Given the description of an element on the screen output the (x, y) to click on. 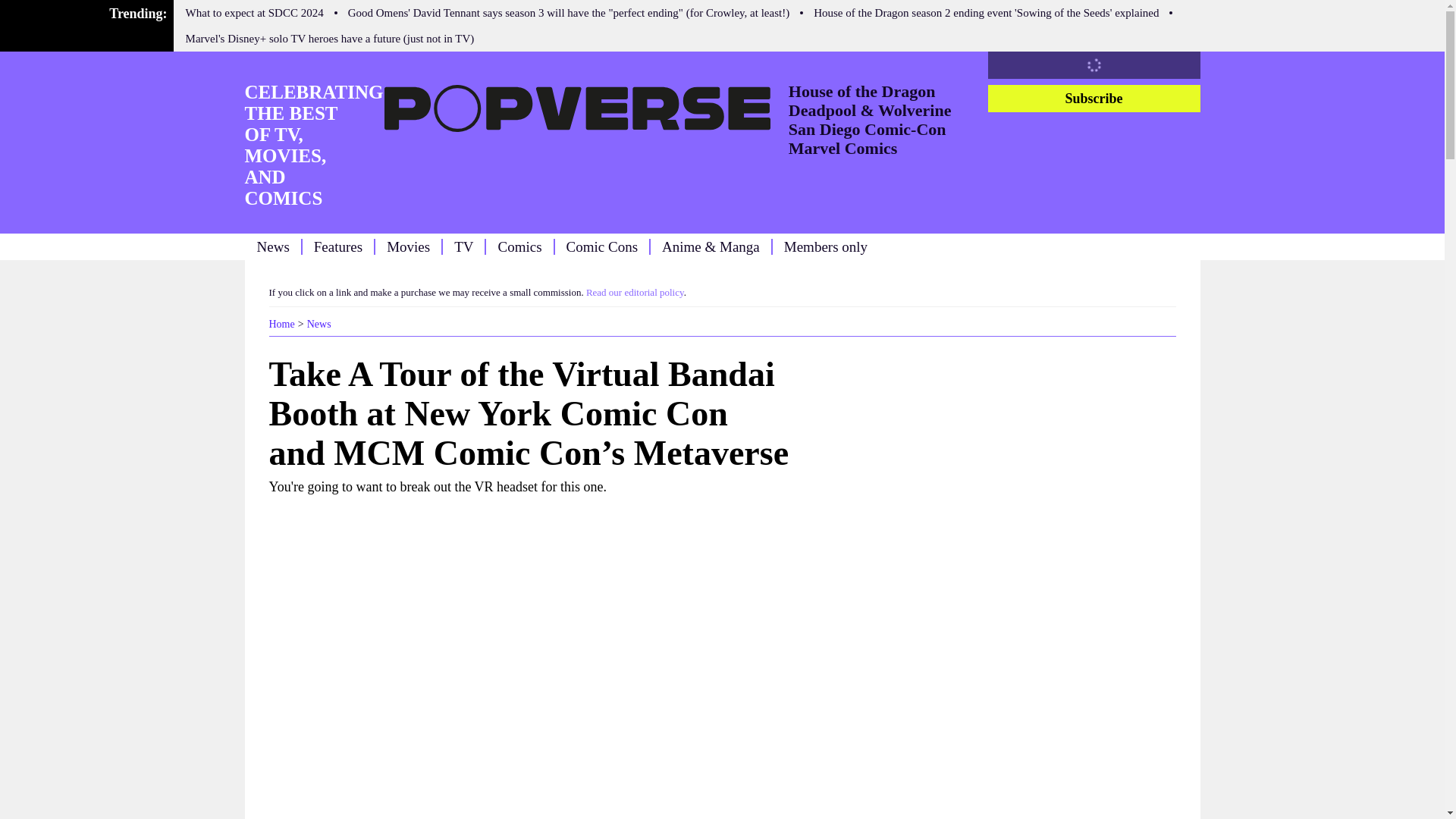
Features (338, 246)
Movies (408, 246)
What to expect at SDCC 2024 (254, 12)
TV (463, 246)
San Diego Comic-Con (867, 128)
Marvel Comics (843, 148)
Read our editorial policy (635, 292)
House of the Dragon (862, 90)
Comic Cons (601, 246)
Home (280, 324)
House of the Dragon (862, 90)
What to expect at SDCC 2024 (254, 12)
Home (280, 324)
Features (338, 246)
